Given the description of an element on the screen output the (x, y) to click on. 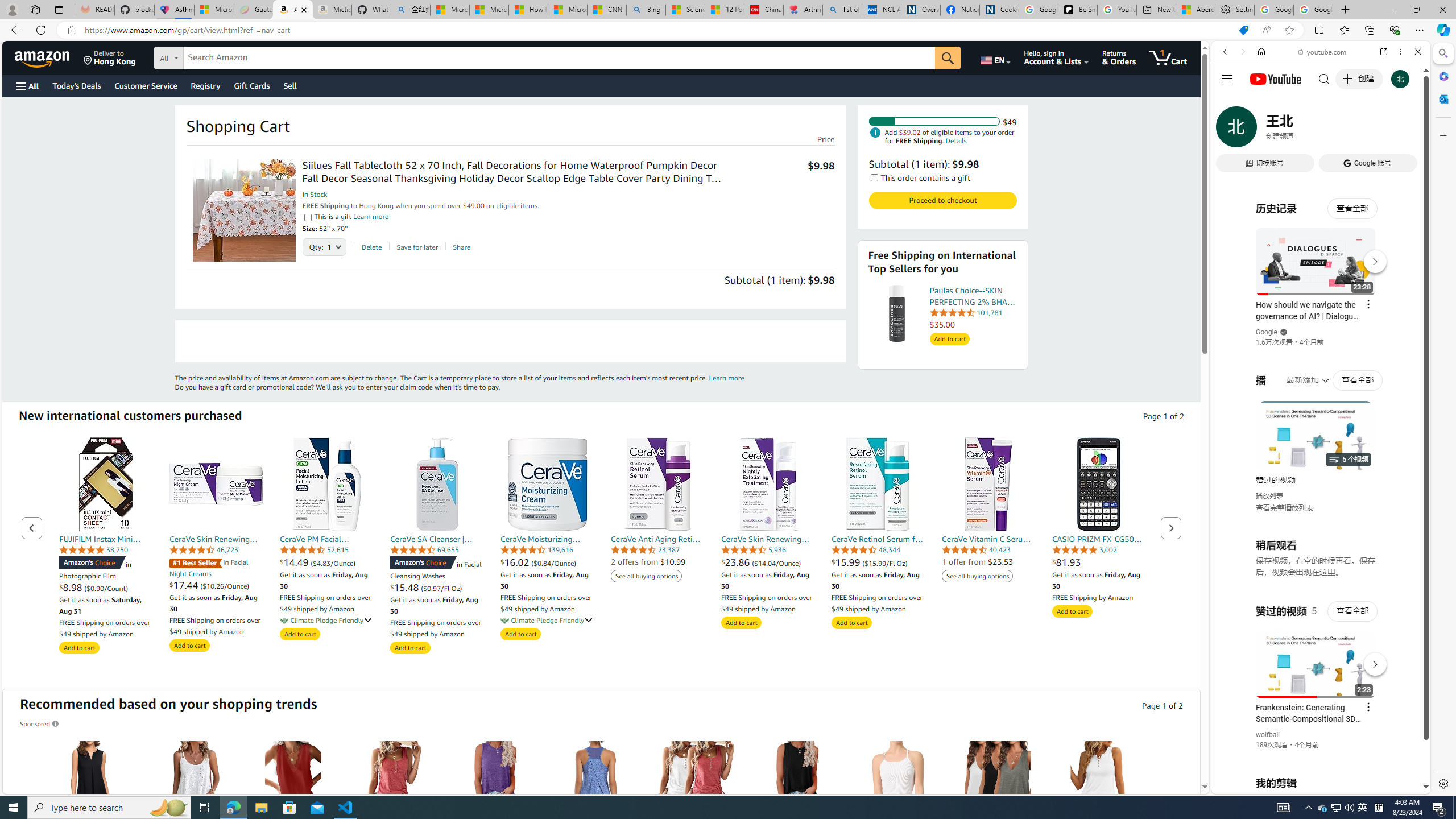
US[ju] (1249, 785)
Search in (210, 56)
$16.02  (515, 562)
1 offer from $23.53 (977, 561)
Hello, sign in Account & Lists (1056, 57)
